Given the description of an element on the screen output the (x, y) to click on. 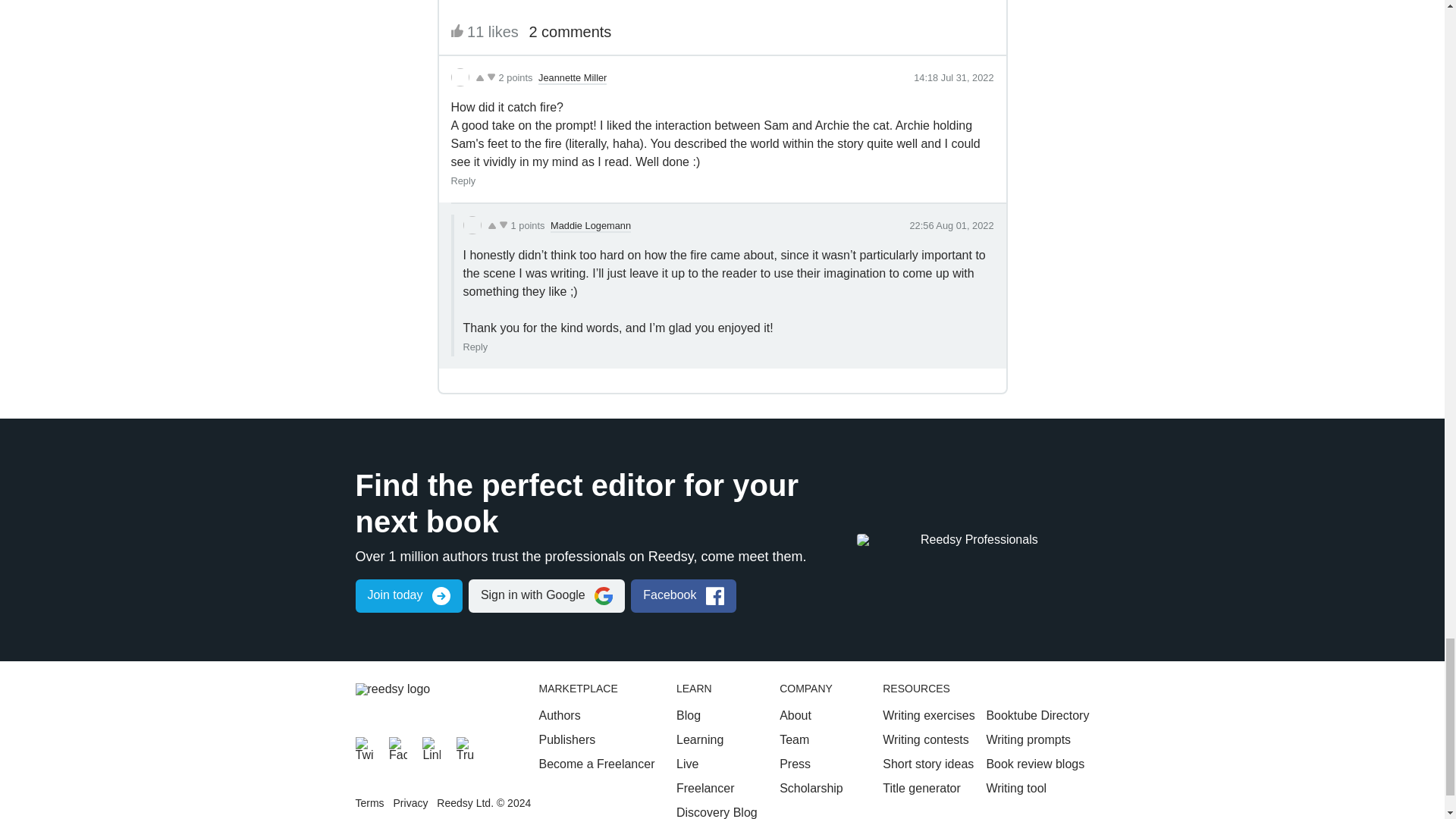
Twitter (363, 746)
Facebook (397, 746)
LinkedIn (431, 746)
Trustpilot (465, 746)
Sign in with Google (546, 595)
Sign in with Facebook (683, 595)
Sign up (408, 595)
